Given the description of an element on the screen output the (x, y) to click on. 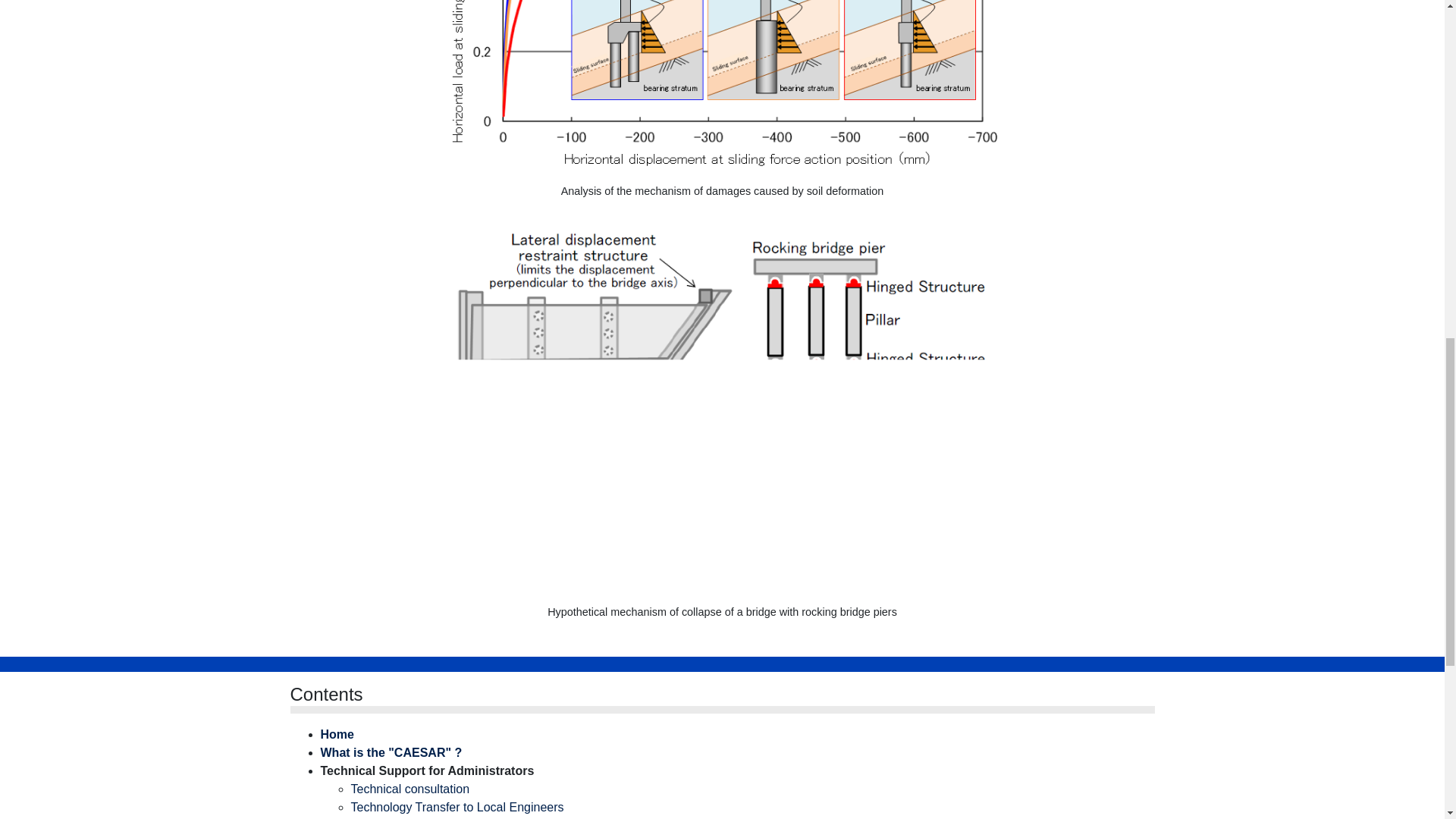
Technology Transfer to Local Engineers (456, 807)
What is the "CAESAR" ? (390, 752)
Home (336, 734)
Technical consultation (409, 788)
